Given the description of an element on the screen output the (x, y) to click on. 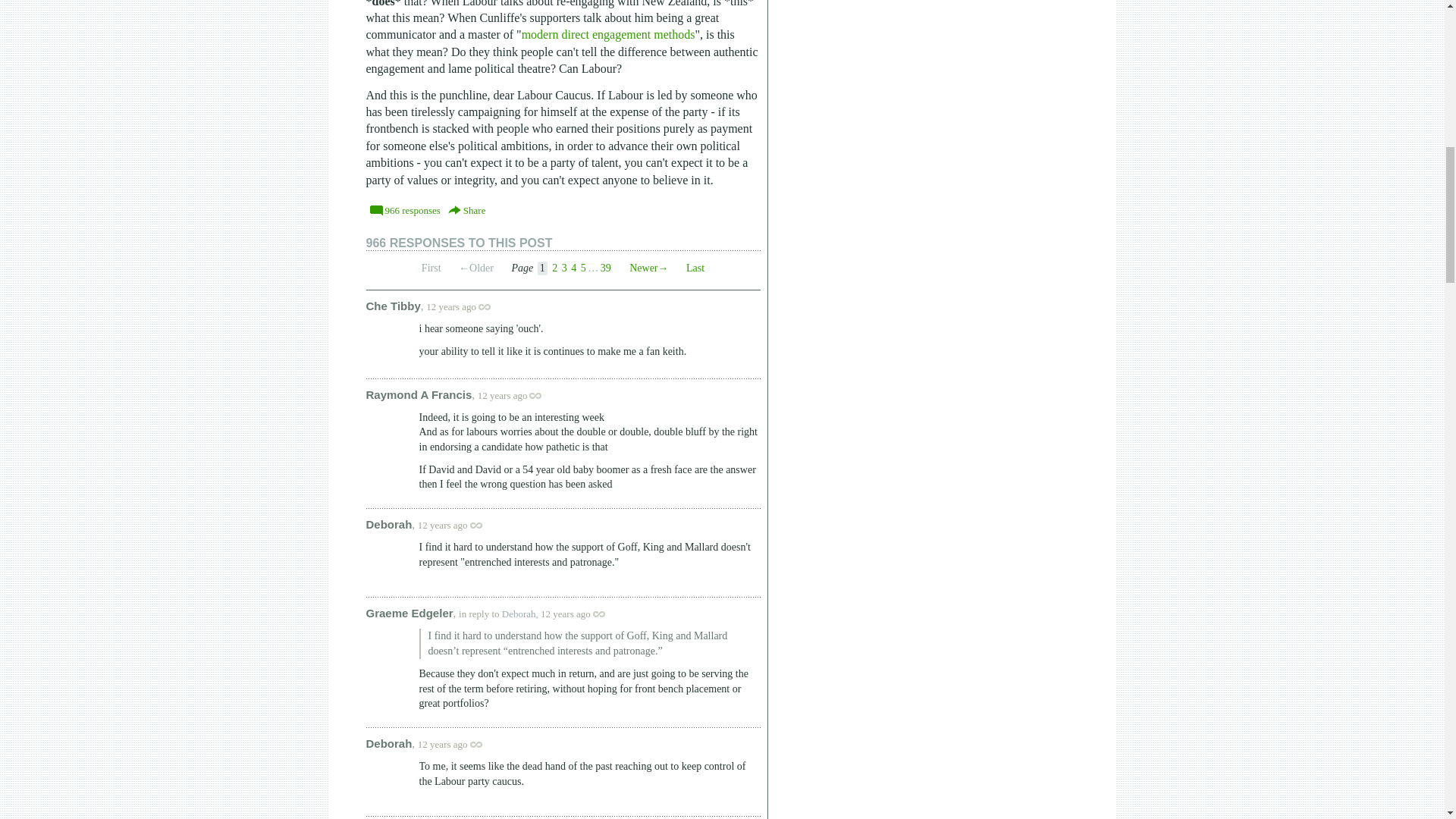
12 years ago (465, 306)
08:15 Dec 12, 2011 (442, 744)
Raymond A Francis (418, 394)
Deborah (388, 523)
08:05 Dec 12, 2011 (565, 613)
39 (605, 267)
modern direct engagement methods (608, 33)
966 responses (405, 210)
12 years ago (517, 395)
Deborah (388, 743)
12 years ago (457, 524)
07:52 Dec 12, 2011 (502, 395)
Graeme Edgeler (408, 612)
Che Tibby (392, 305)
12 years ago (580, 613)
